Given the description of an element on the screen output the (x, y) to click on. 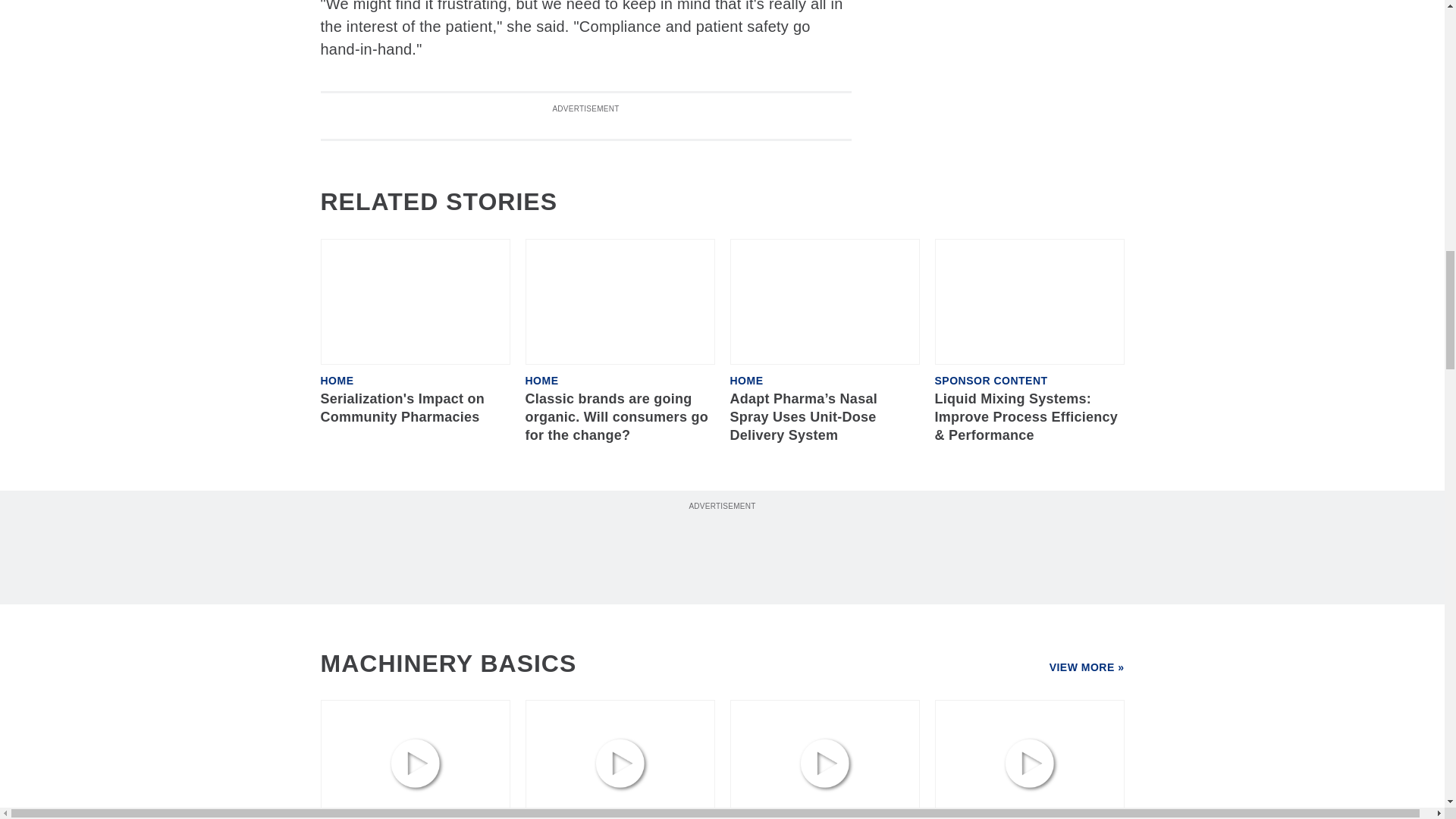
Home (745, 380)
Sponsor Content (990, 380)
Home (336, 380)
Home (540, 380)
